Given the description of an element on the screen output the (x, y) to click on. 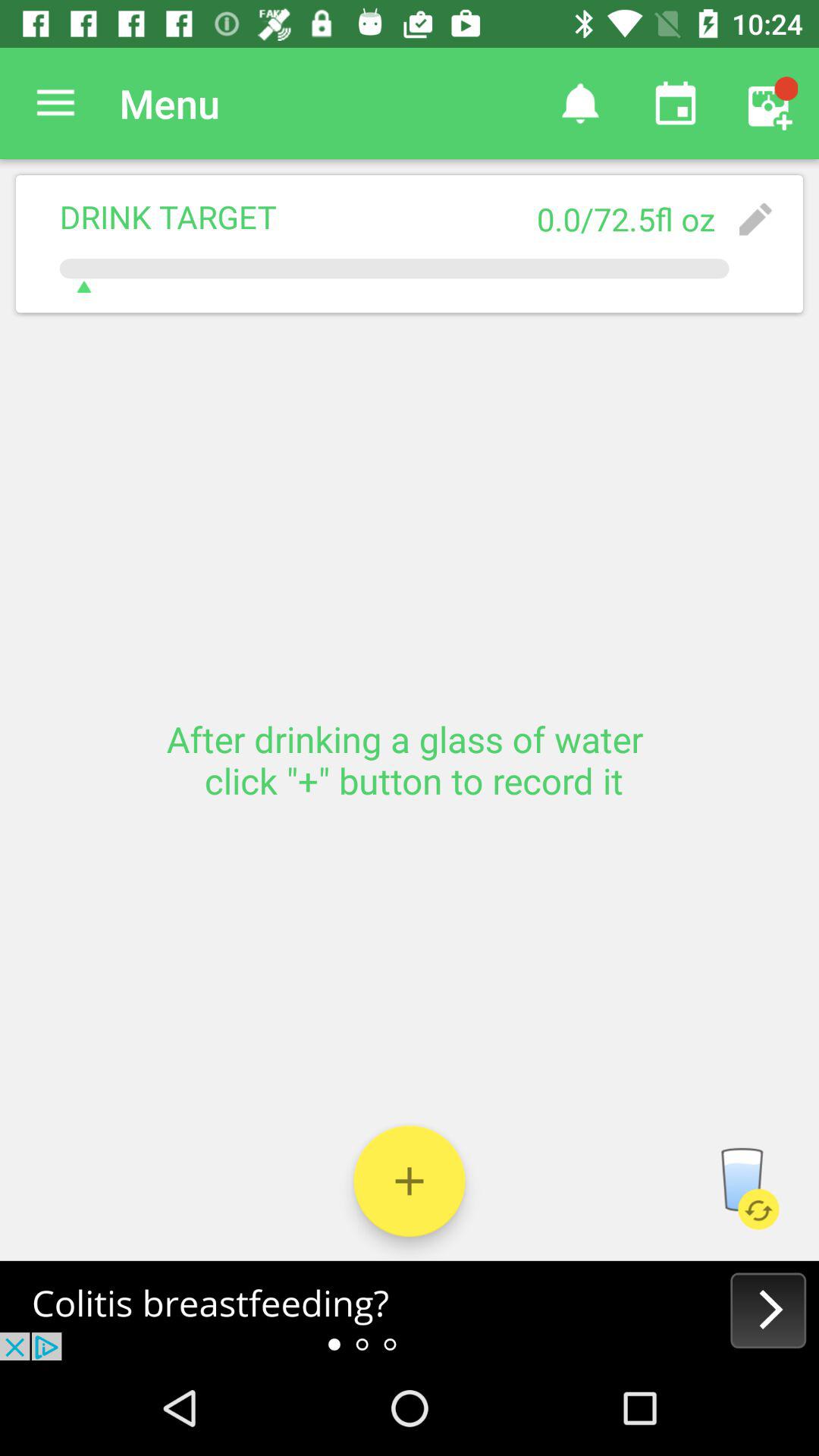
go to advertisement website/ app (409, 1310)
